Given the description of an element on the screen output the (x, y) to click on. 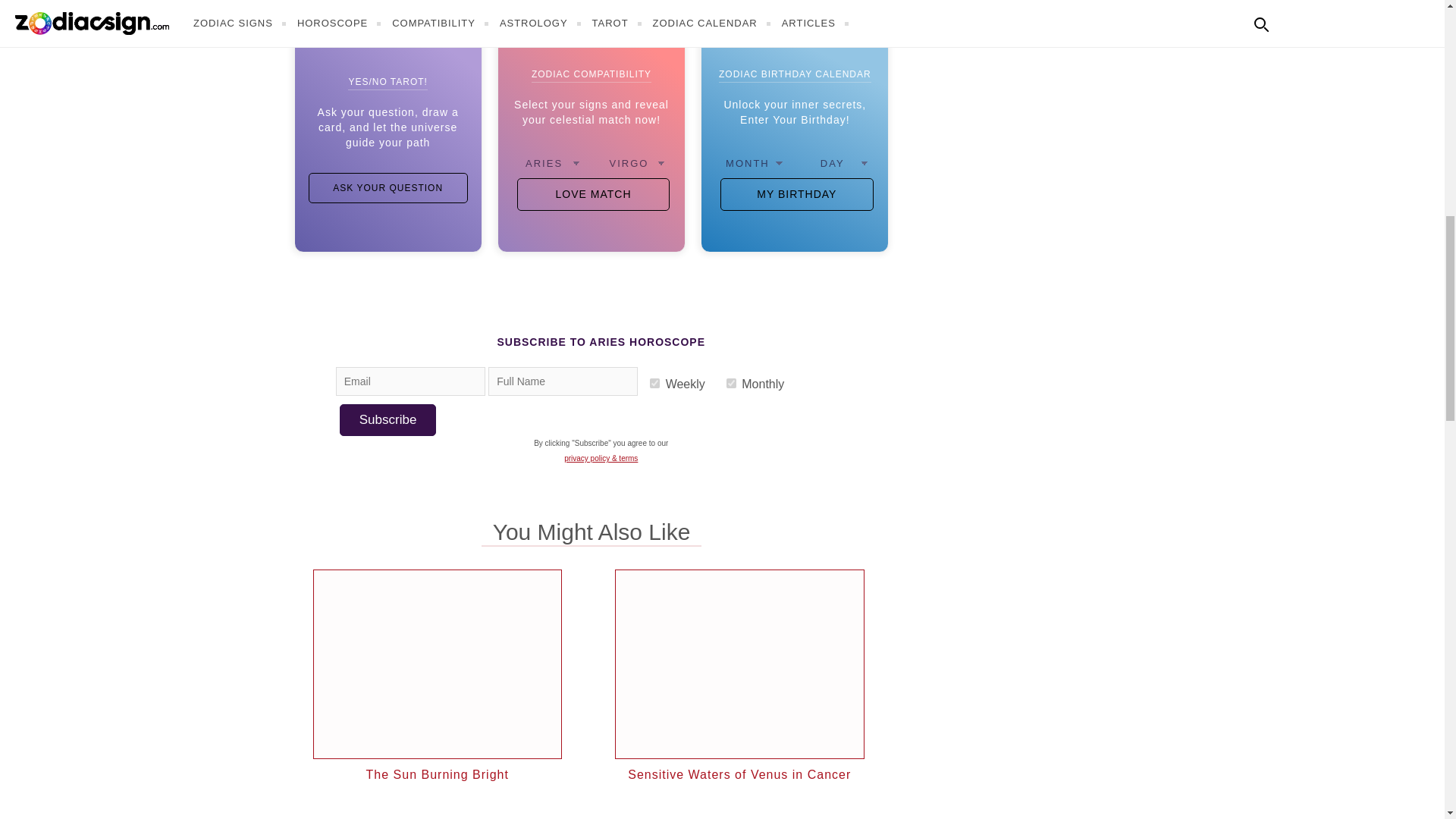
monthly (731, 383)
weekly (654, 383)
